Given the description of an element on the screen output the (x, y) to click on. 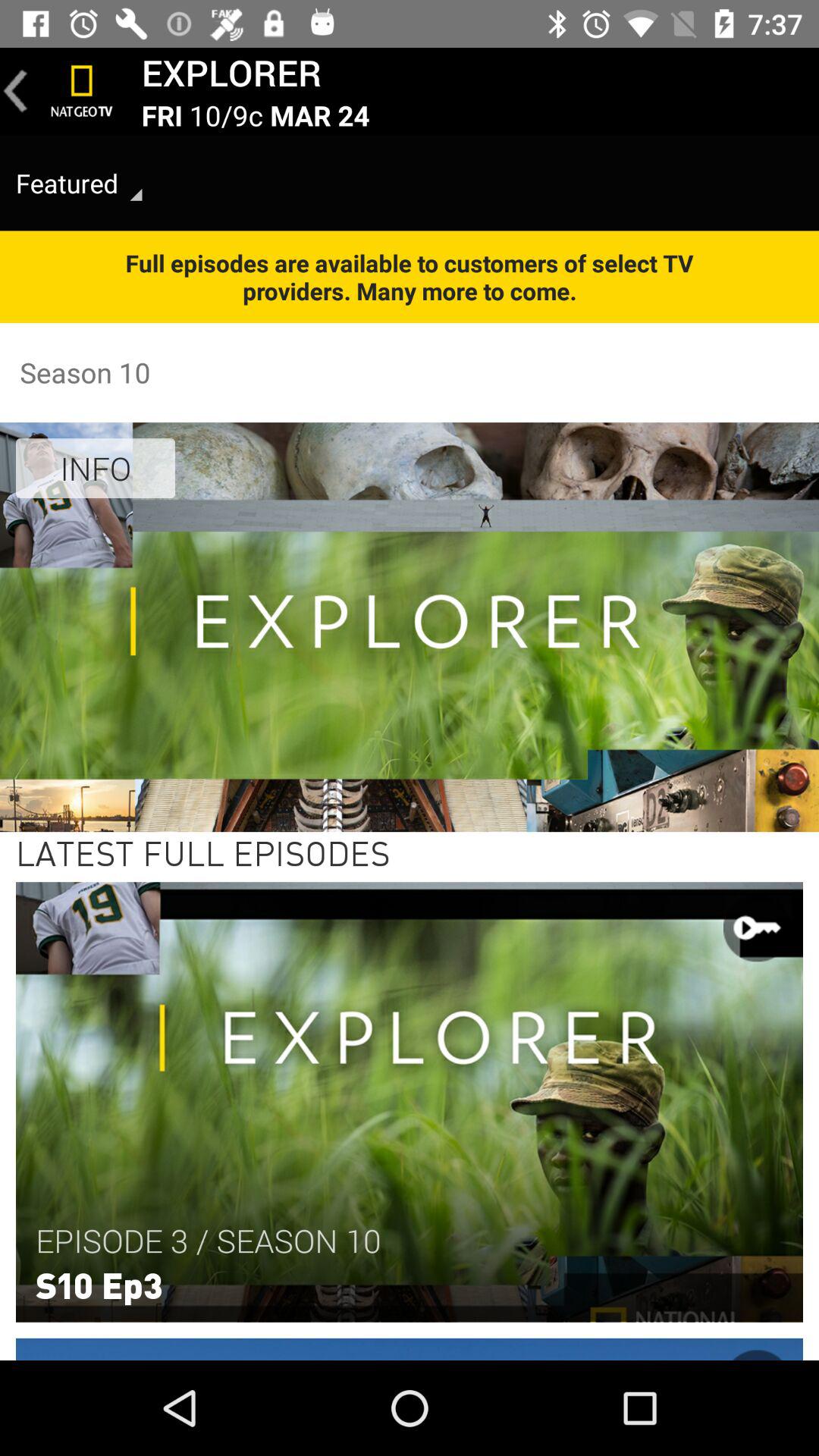
click episode 3 season icon (208, 1240)
